Given the description of an element on the screen output the (x, y) to click on. 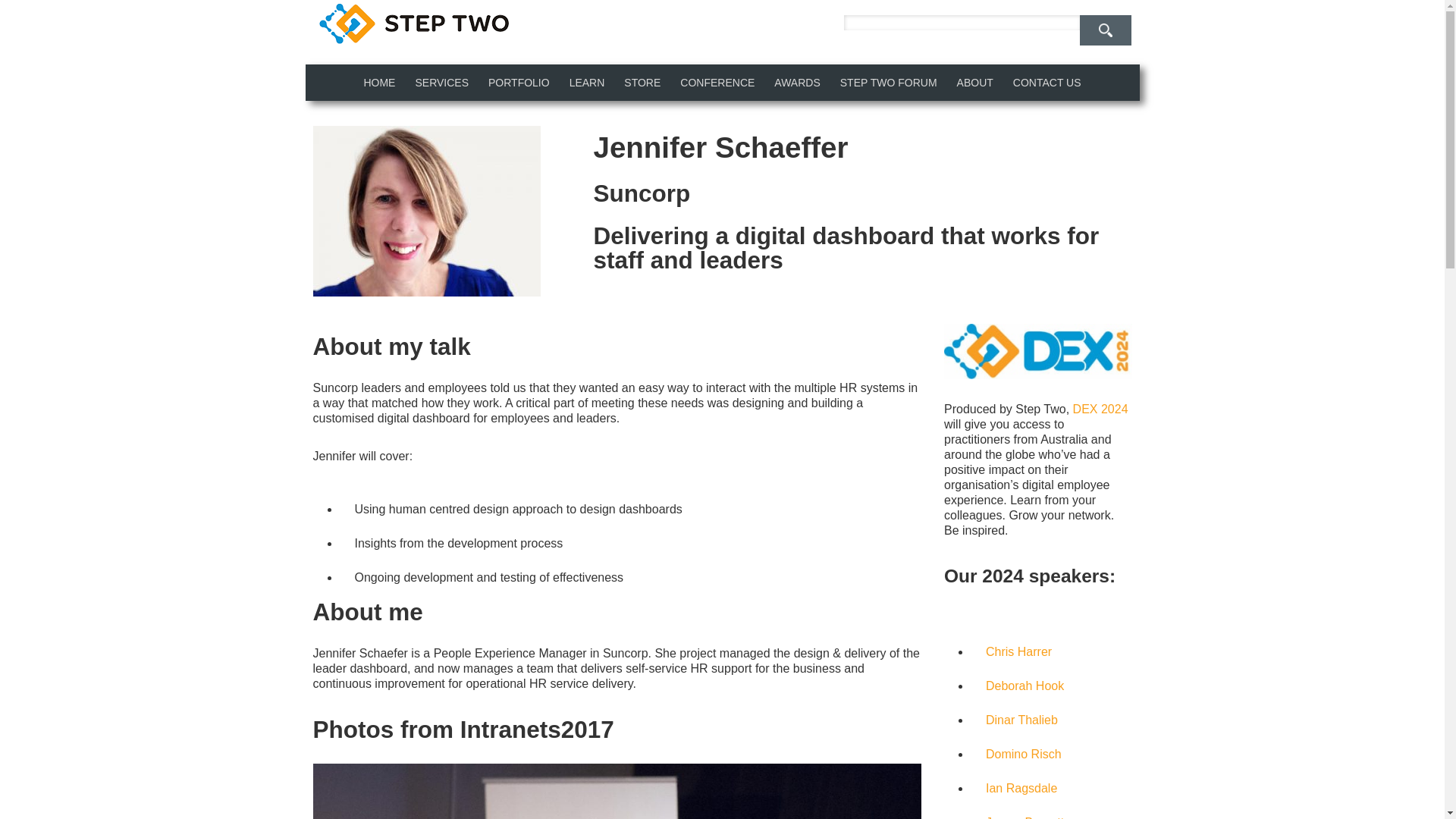
Chris Harrer (1018, 651)
AWARDS (796, 82)
HOME (378, 82)
Search (1105, 30)
CONTACT US (1046, 82)
CONFERENCE (716, 82)
PORTFOLIO (519, 82)
ABOUT (975, 82)
STEP TWO FORUM (888, 82)
DEX 2024 (1100, 408)
Dinar Thalieb (1021, 719)
Search (1105, 30)
SERVICES (441, 82)
STORE (641, 82)
